Given the description of an element on the screen output the (x, y) to click on. 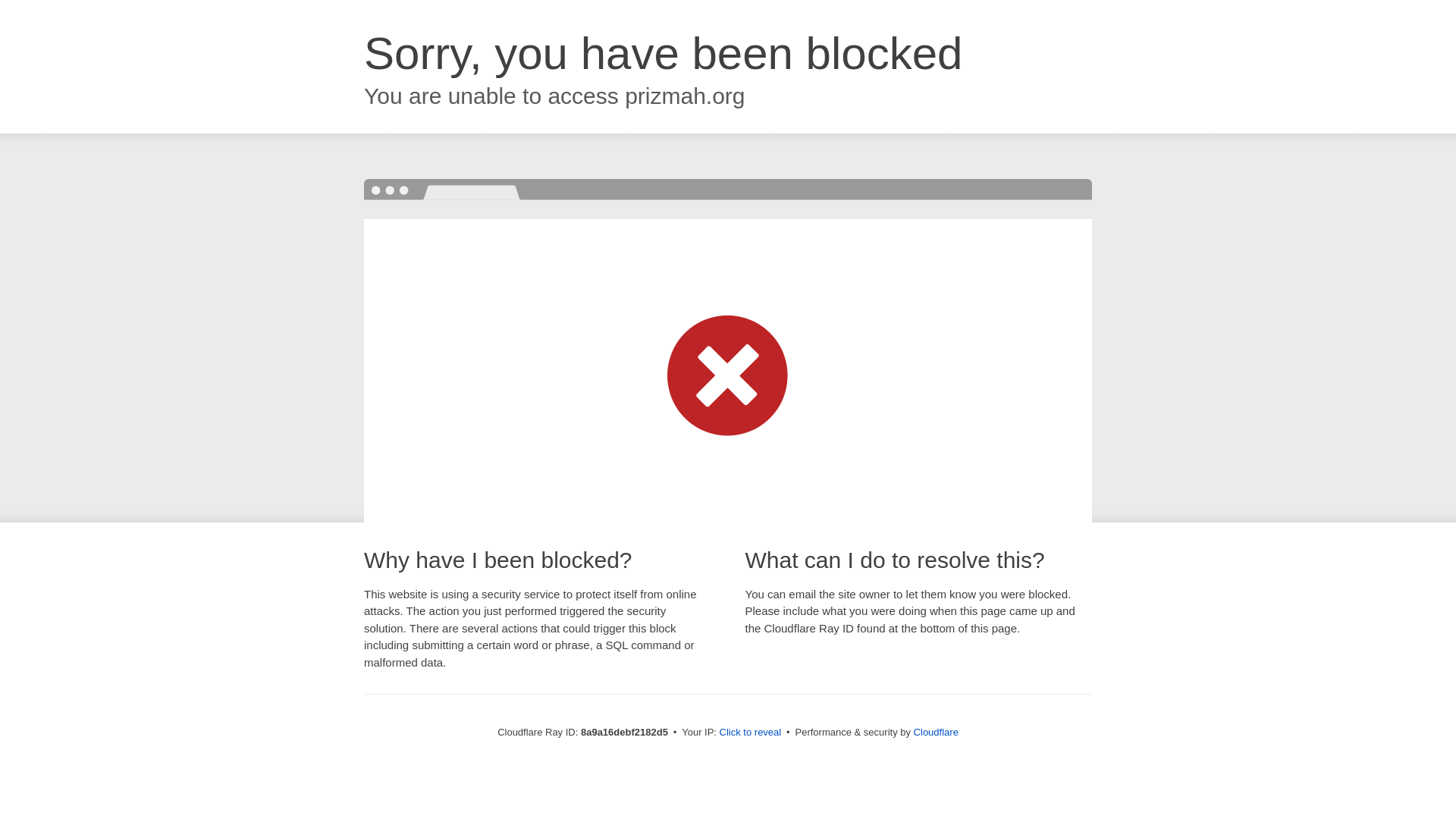
Cloudflare (936, 731)
Click to reveal (750, 732)
